Given the description of an element on the screen output the (x, y) to click on. 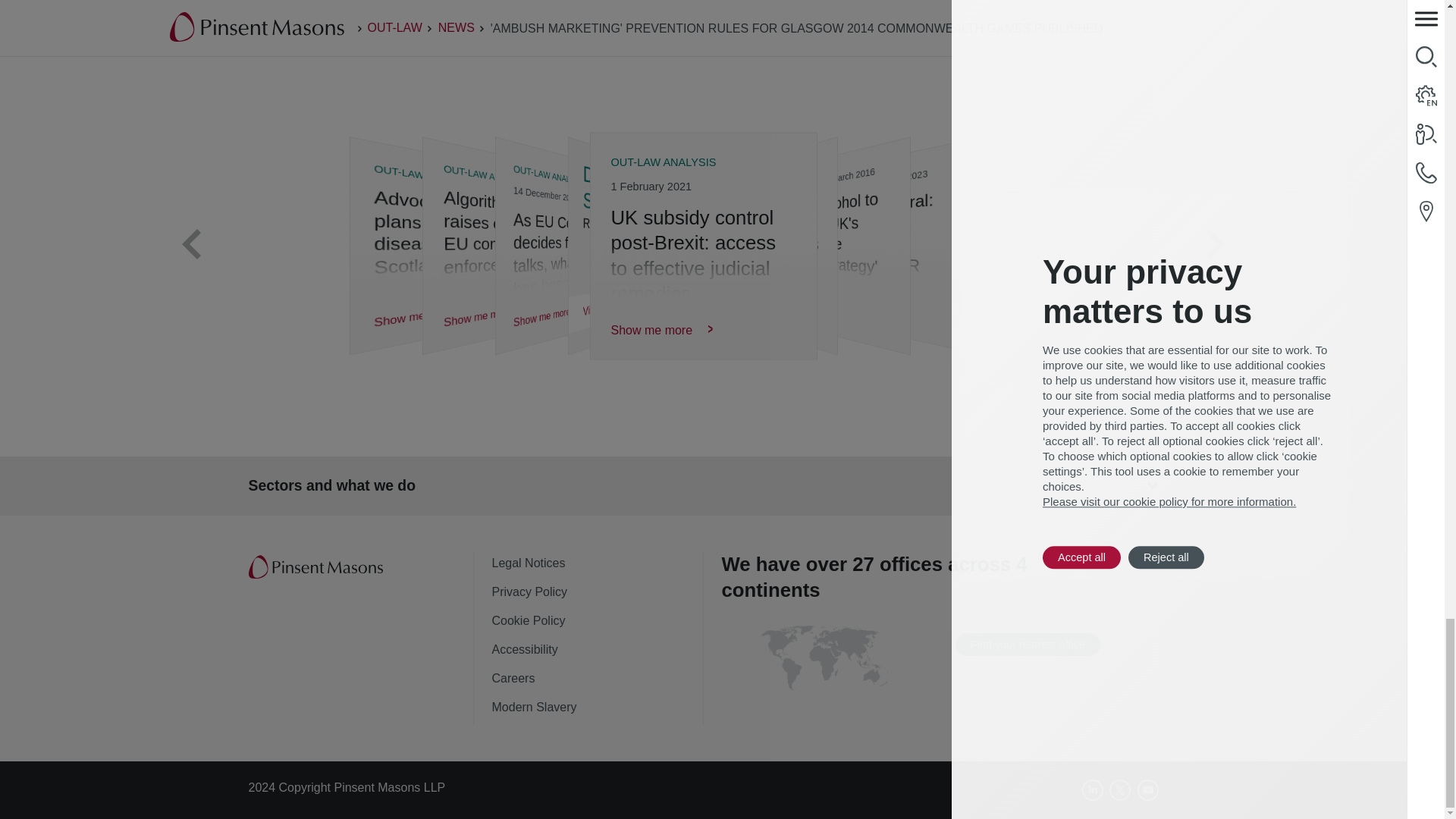
Pinsent Masons LinkedIn (1092, 789)
Pinsent Masons (316, 567)
Pinsent Masons Twitter (1120, 789)
